Given the description of an element on the screen output the (x, y) to click on. 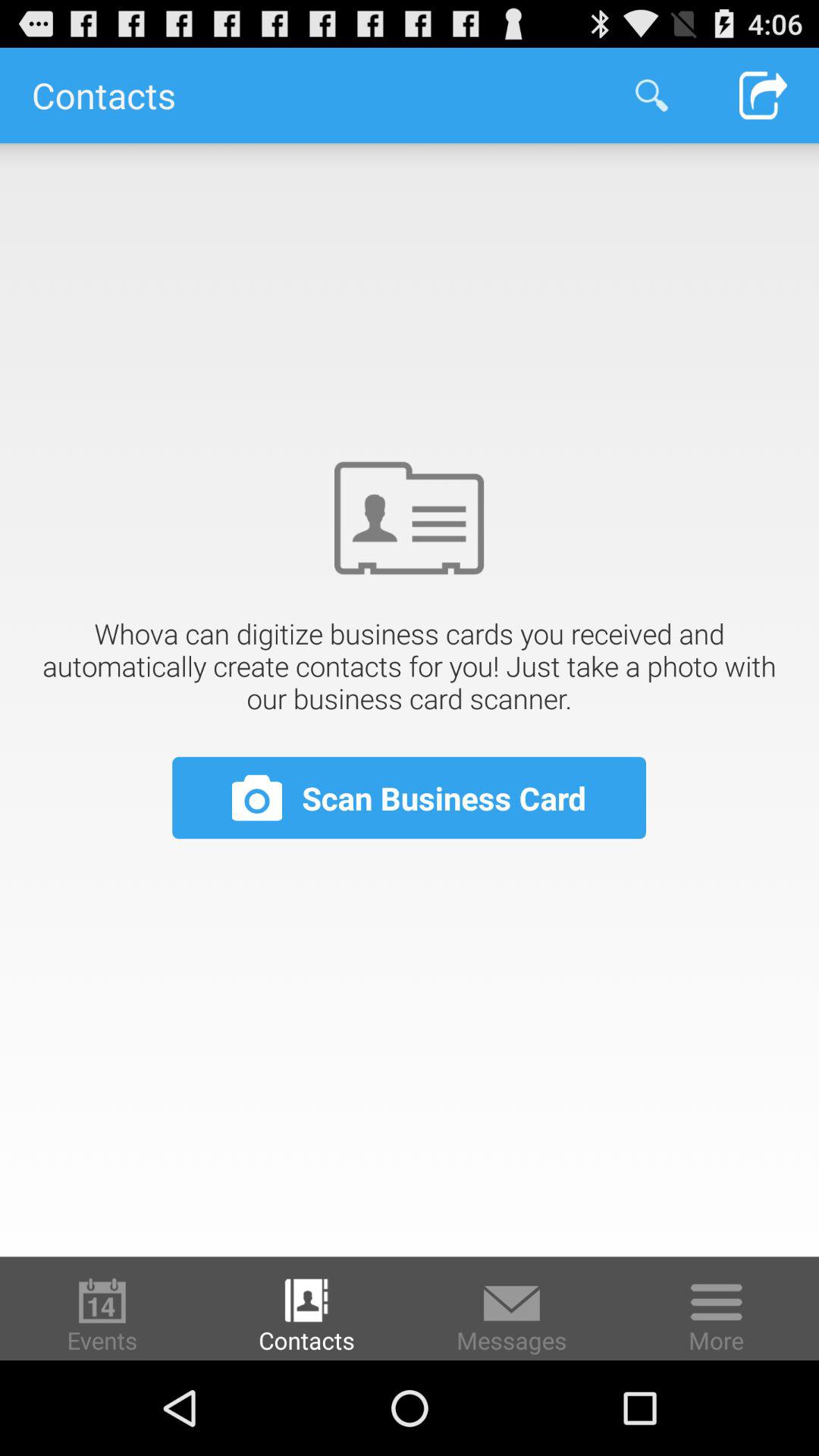
tap item next to the contacts icon (651, 95)
